Given the description of an element on the screen output the (x, y) to click on. 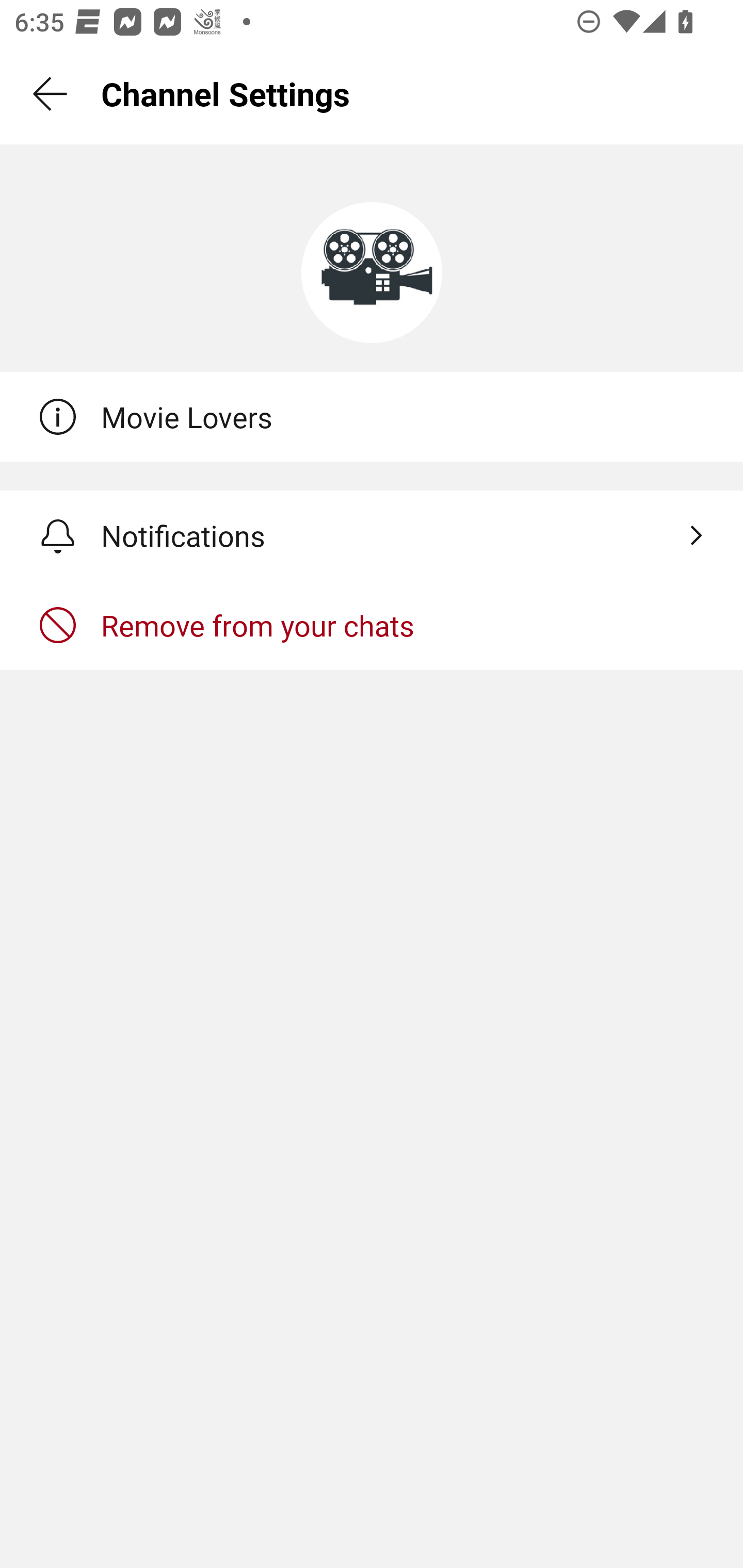
Back (50, 93)
Notifications (371, 535)
Remove from your chats (371, 624)
